Given the description of an element on the screen output the (x, y) to click on. 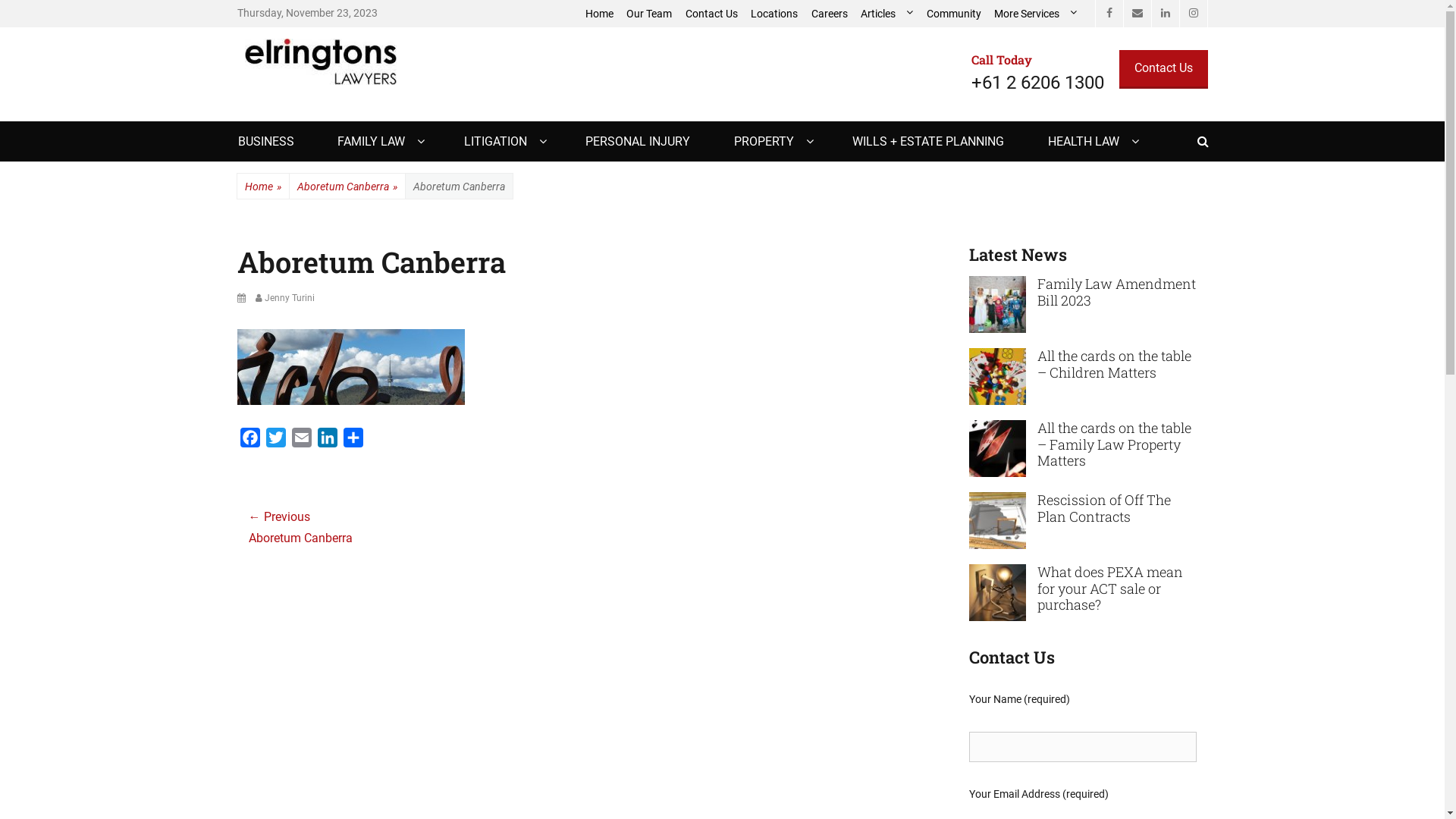
Rescission of Off The Plan Contracts Element type: hover (997, 519)
Family Law Amendment Bill 2023 Element type: text (1116, 291)
Rescission of Off The Plan Contracts Element type: text (1103, 507)
FAMILY LAW Element type: text (378, 141)
PERSONAL INJURY Element type: text (637, 141)
Search Element type: text (1208, 120)
More Services Element type: text (1034, 13)
What does PEXA mean for your ACT sale or purchase? Element type: text (1110, 587)
Twitter Element type: text (275, 440)
Facebook Element type: text (1109, 13)
What does PEXA mean for your ACT sale or purchase? Element type: hover (997, 591)
Instagram Element type: text (1192, 13)
Home Element type: text (599, 13)
Our Team Element type: text (649, 13)
Share Element type: text (352, 440)
PROPERTY Element type: text (771, 141)
Email Element type: text (1136, 13)
Email Element type: text (300, 440)
Locations Element type: text (774, 13)
Family Law Amendment Bill 2023 Element type: hover (997, 303)
LITIGATION Element type: text (502, 141)
LinkedIn Element type: text (1165, 13)
Community Element type: text (953, 13)
LinkedIn Element type: text (326, 440)
Jenny Turini Element type: text (283, 297)
Contact Us Element type: text (1163, 69)
BUSINESS Element type: text (265, 141)
Careers Element type: text (829, 13)
Articles Element type: text (886, 13)
Facebook Element type: text (249, 440)
HEALTH LAW Element type: text (1090, 141)
WILLS + ESTATE PLANNING Element type: text (928, 141)
ELRINGTONS LAWYERS Element type: text (430, 66)
Contact Us Element type: text (711, 13)
